Given the description of an element on the screen output the (x, y) to click on. 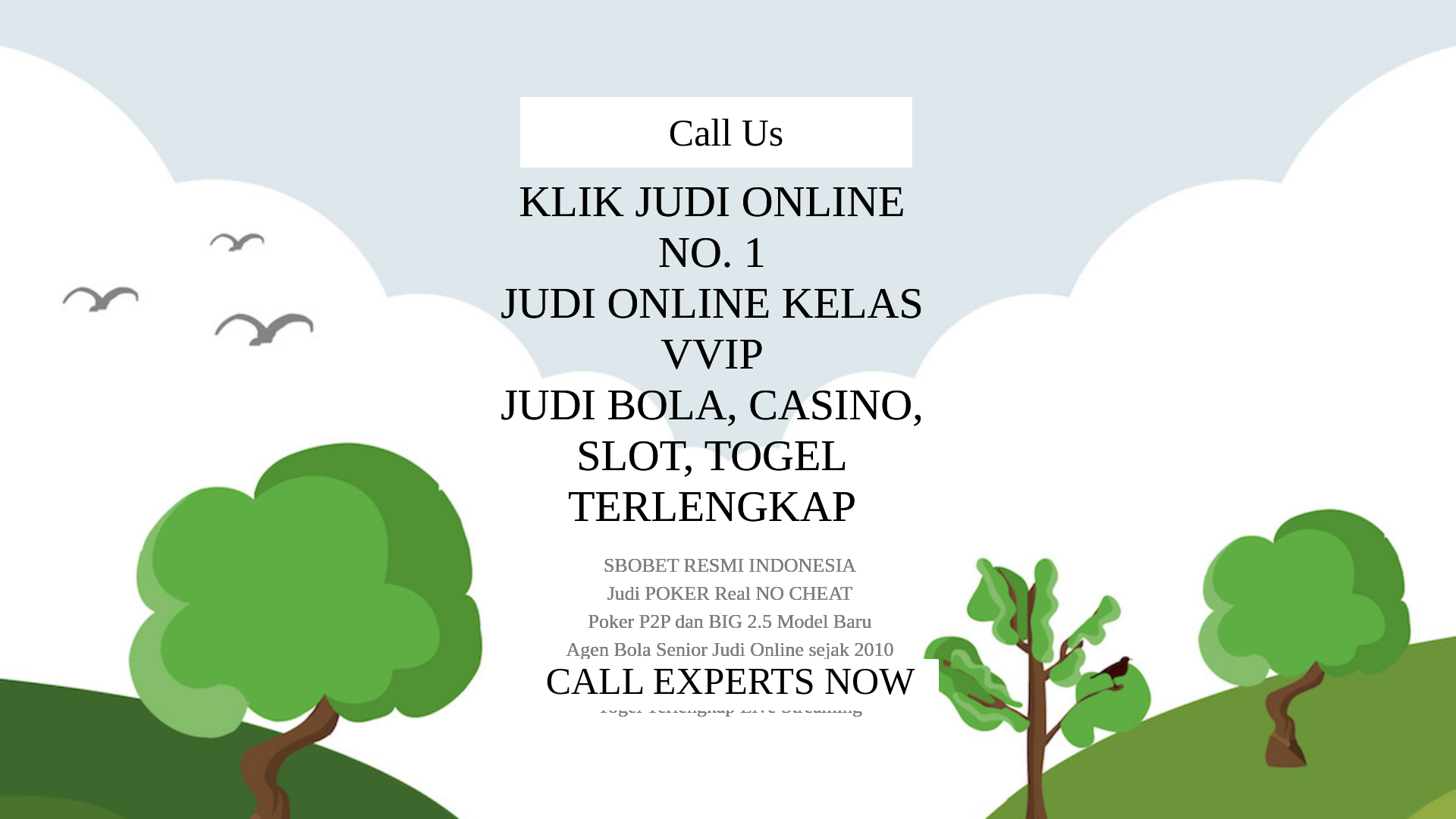
Call Us (1133, 32)
SBOBET RESMI INDONESIA (727, 385)
Judi POKER Real NO CHEAT (726, 411)
Call Us (727, 568)
KLIK JUDI ONLINE No. 1 (727, 276)
Judi Online Kelas VVIP (727, 308)
KOLAMHOKI.COM (397, 25)
Agen Bola Senior Judi Online sejak 2010 (727, 461)
Judi Bola, Casino, Slot, Togel Terlengkap (727, 341)
Poker P2P dan BIG 2.5 Model Baru (728, 435)
Togel Terlengkap Live Streaming (727, 511)
ibosport alternatif (697, 249)
